Given the description of an element on the screen output the (x, y) to click on. 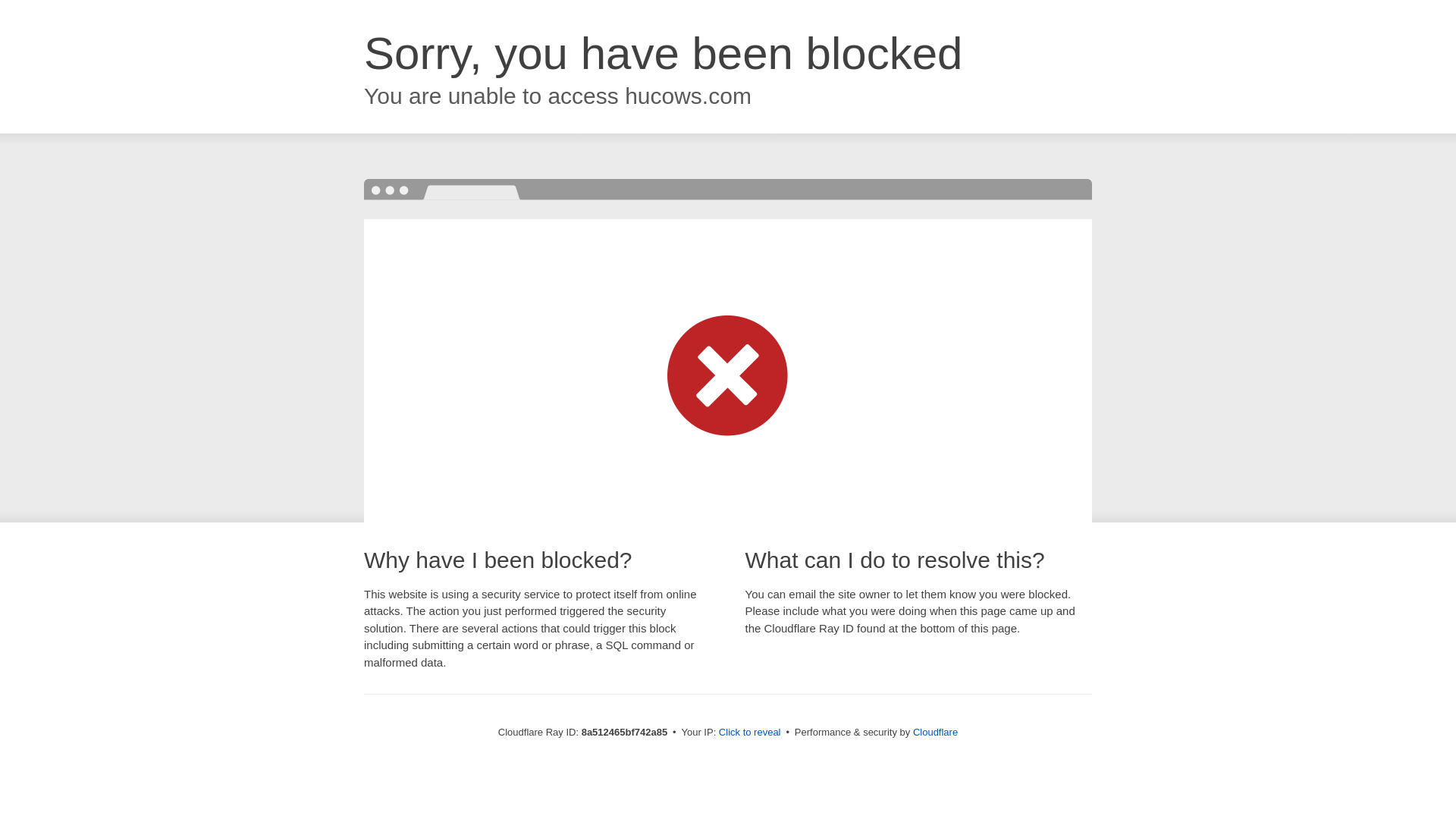
Cloudflare (935, 731)
Click to reveal (749, 732)
